Given the description of an element on the screen output the (x, y) to click on. 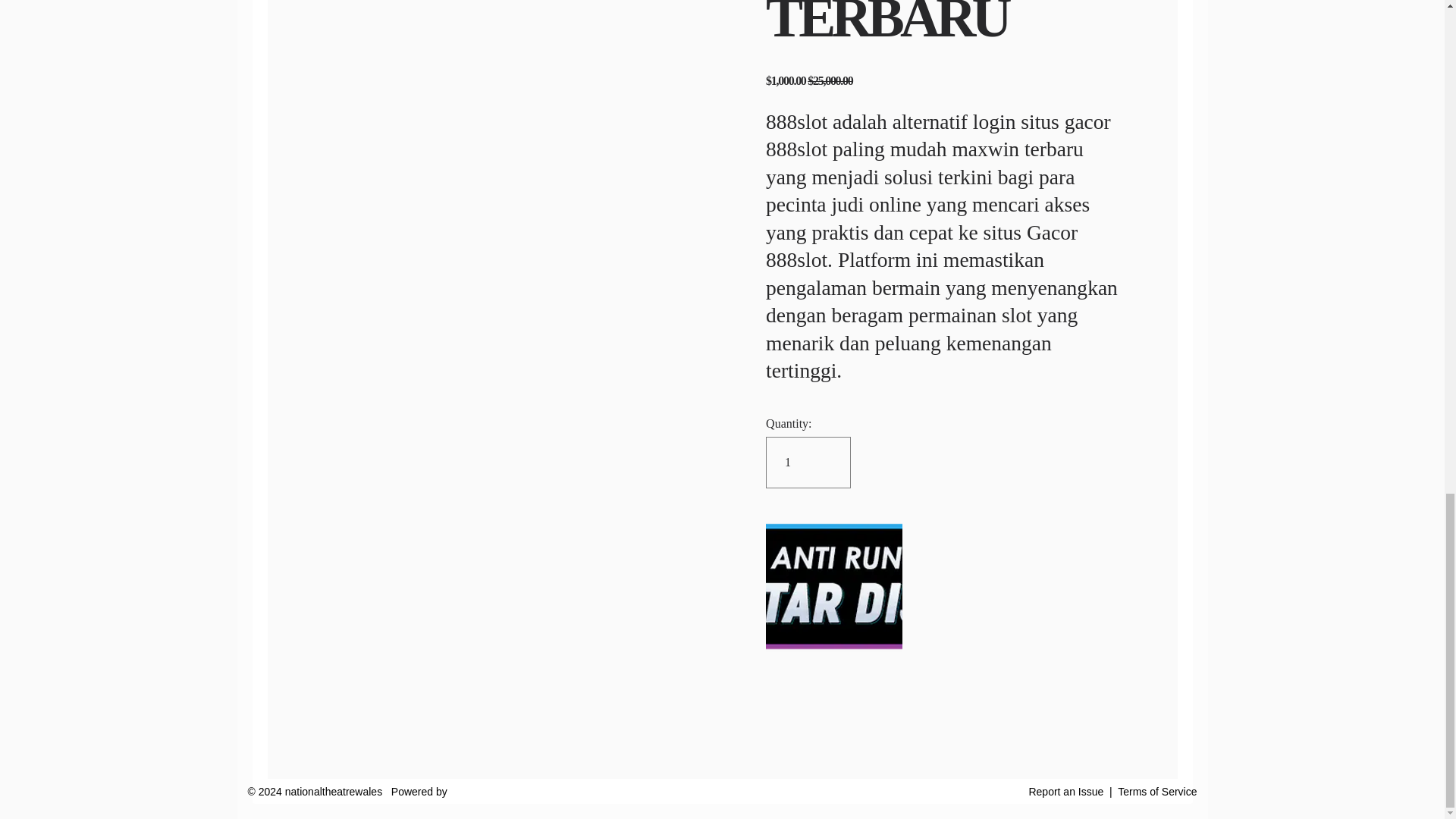
Terms of Service (1157, 791)
1 (807, 462)
Report an Issue (1065, 791)
